Given the description of an element on the screen output the (x, y) to click on. 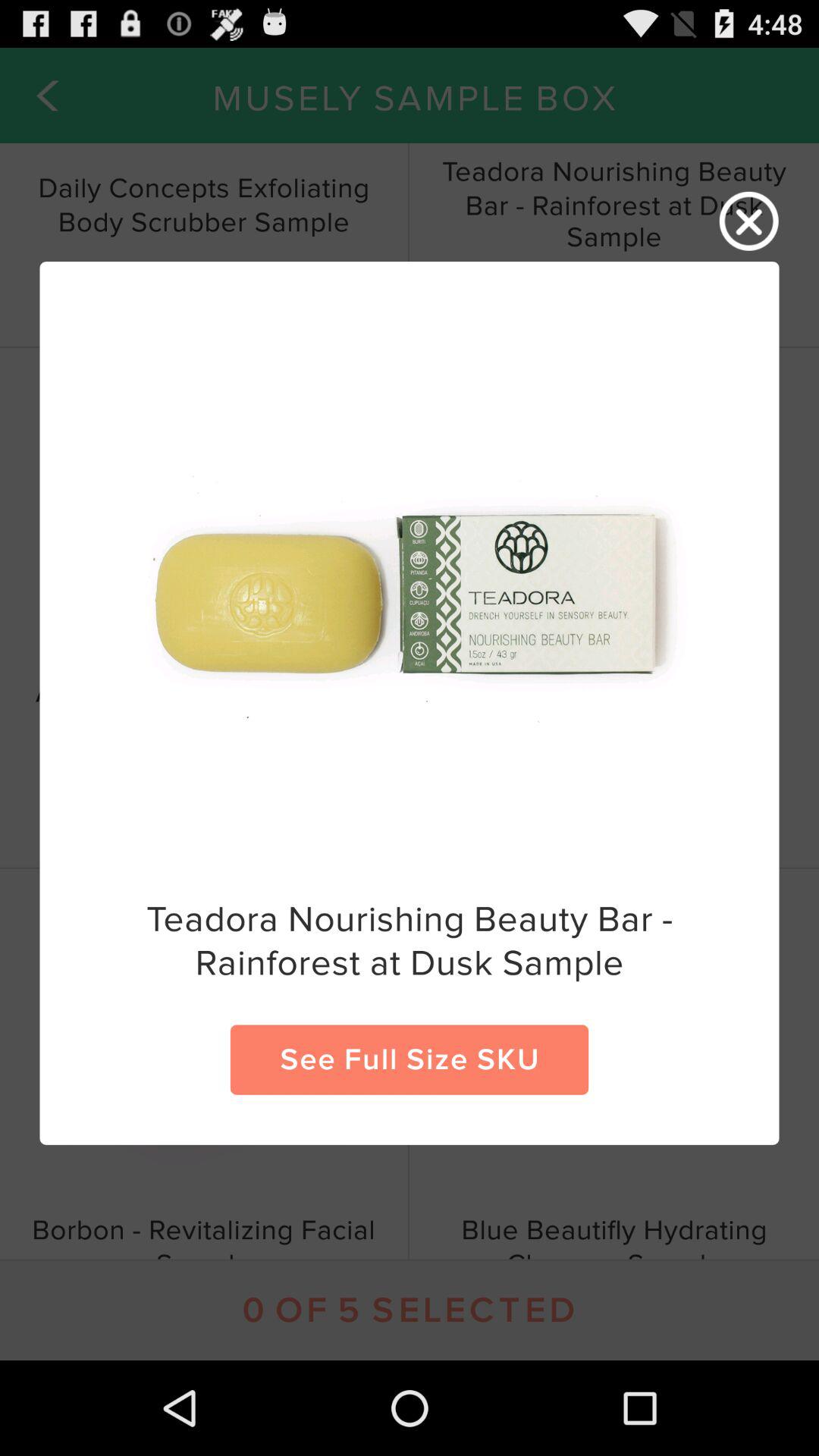
select see full size icon (409, 1059)
